Given the description of an element on the screen output the (x, y) to click on. 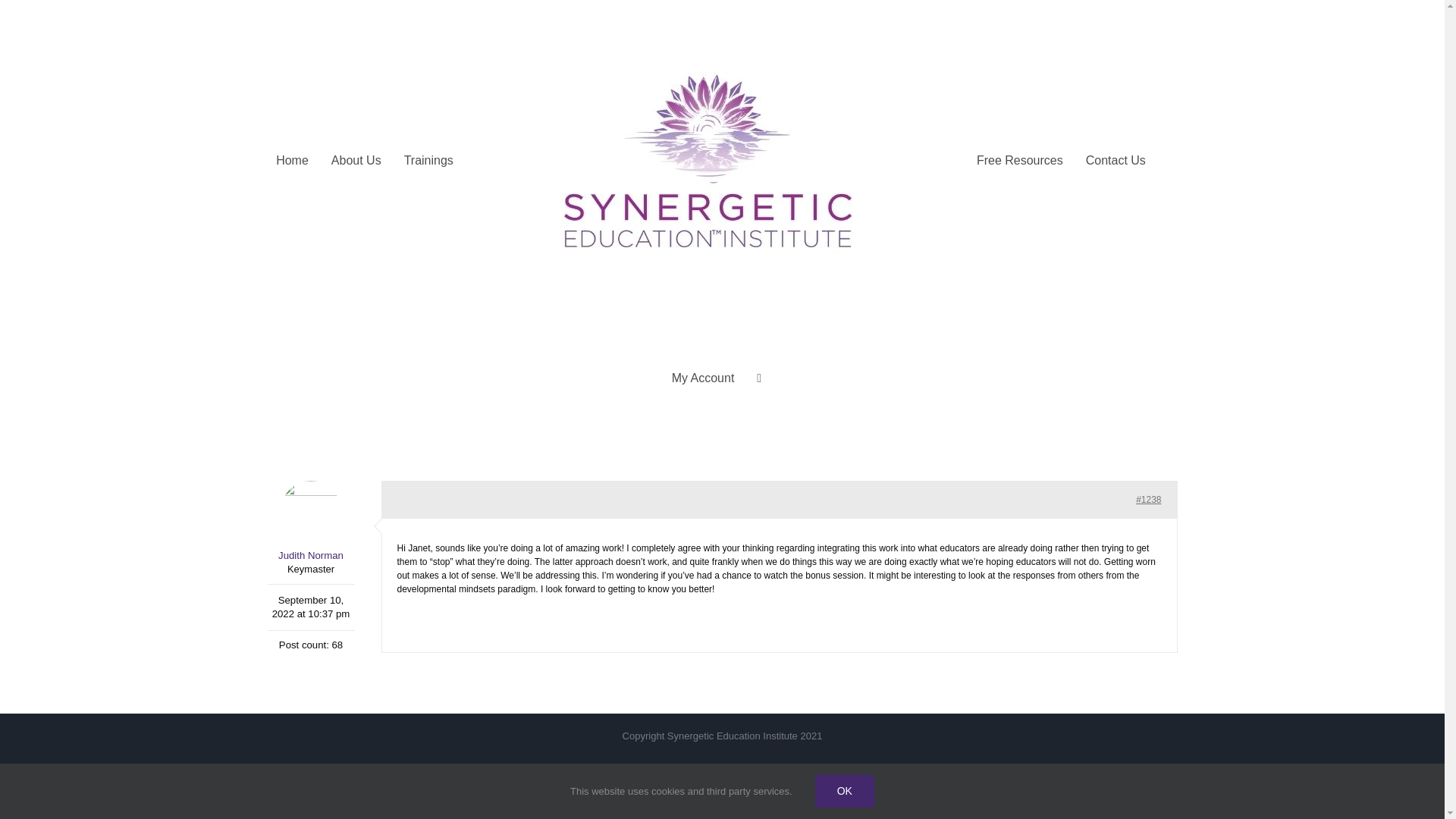
View Judith Norman's profile (309, 521)
